Given the description of an element on the screen output the (x, y) to click on. 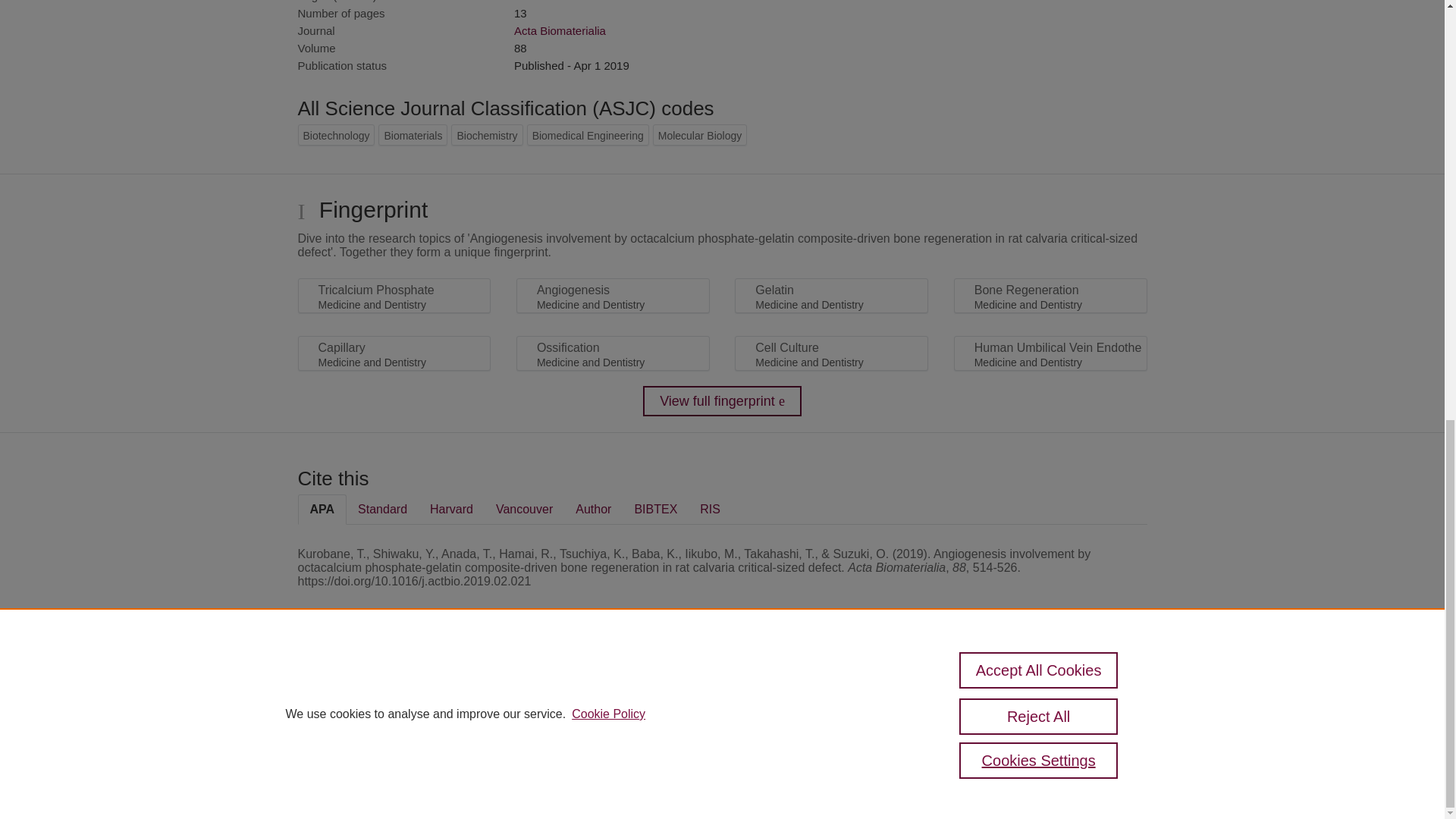
Acta Biomaterialia (559, 30)
View full fingerprint (722, 400)
Scopus (394, 686)
Pure (362, 686)
